Given the description of an element on the screen output the (x, y) to click on. 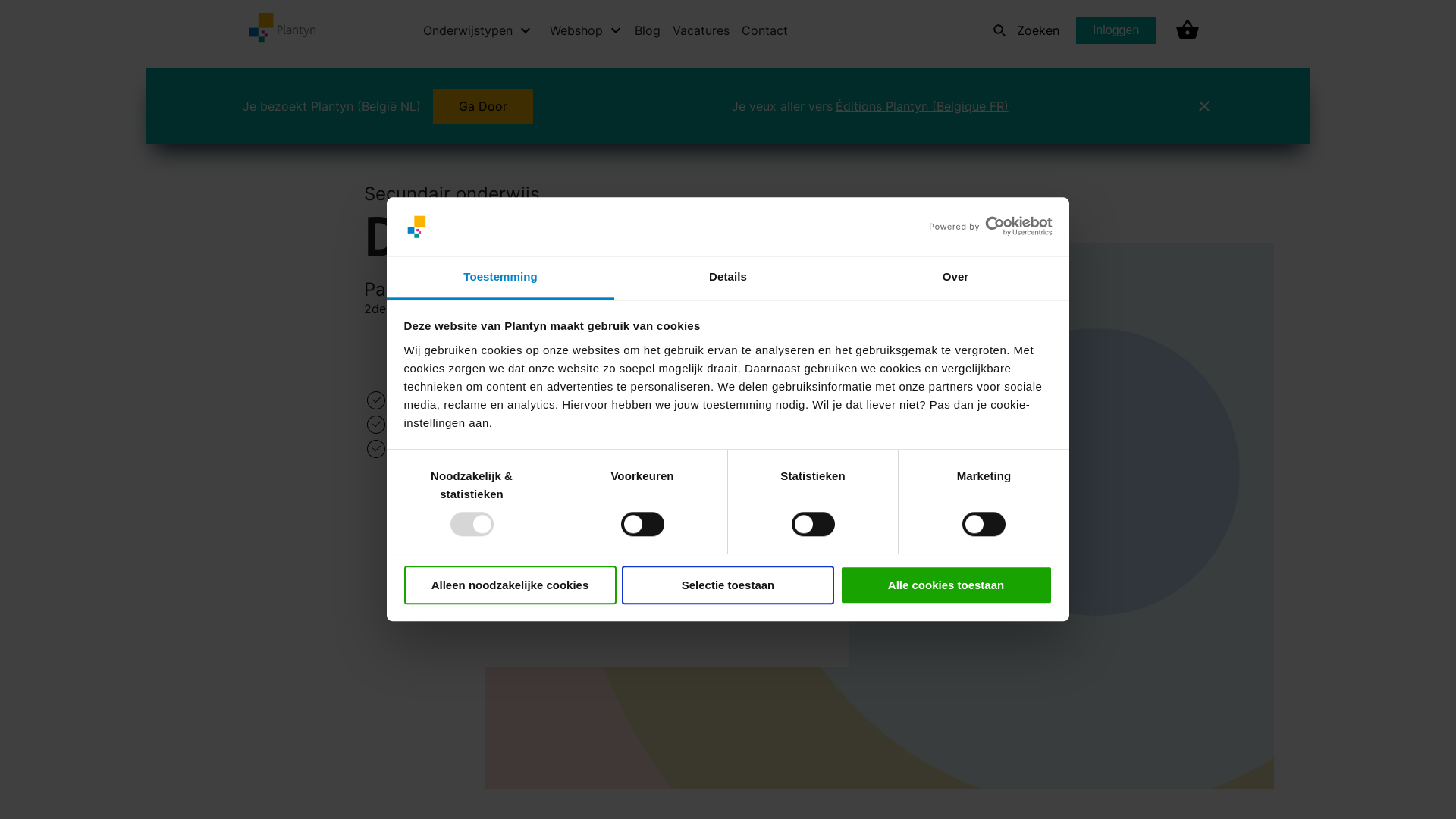
Selectie toestaan Element type: text (727, 584)
Ga Door Element type: text (483, 105)
Blog Element type: text (647, 30)
Alle cookies toestaan Element type: text (946, 584)
Secundair onderwijs Element type: text (415, 87)
OpCo=Plantyn nederlands notagline Element type: hover (306, 27)
Zoeken Element type: text (1021, 30)
Inloggen Element type: text (1115, 29)
Vacatures Element type: text (700, 30)
Home Element type: text (320, 87)
Algemene vorming Element type: text (546, 87)
Contact Element type: text (764, 30)
Toestemming Element type: text (500, 277)
Over Element type: text (955, 277)
Alleen noodzakelijke cookies Element type: text (509, 584)
Details Element type: text (727, 277)
